Given the description of an element on the screen output the (x, y) to click on. 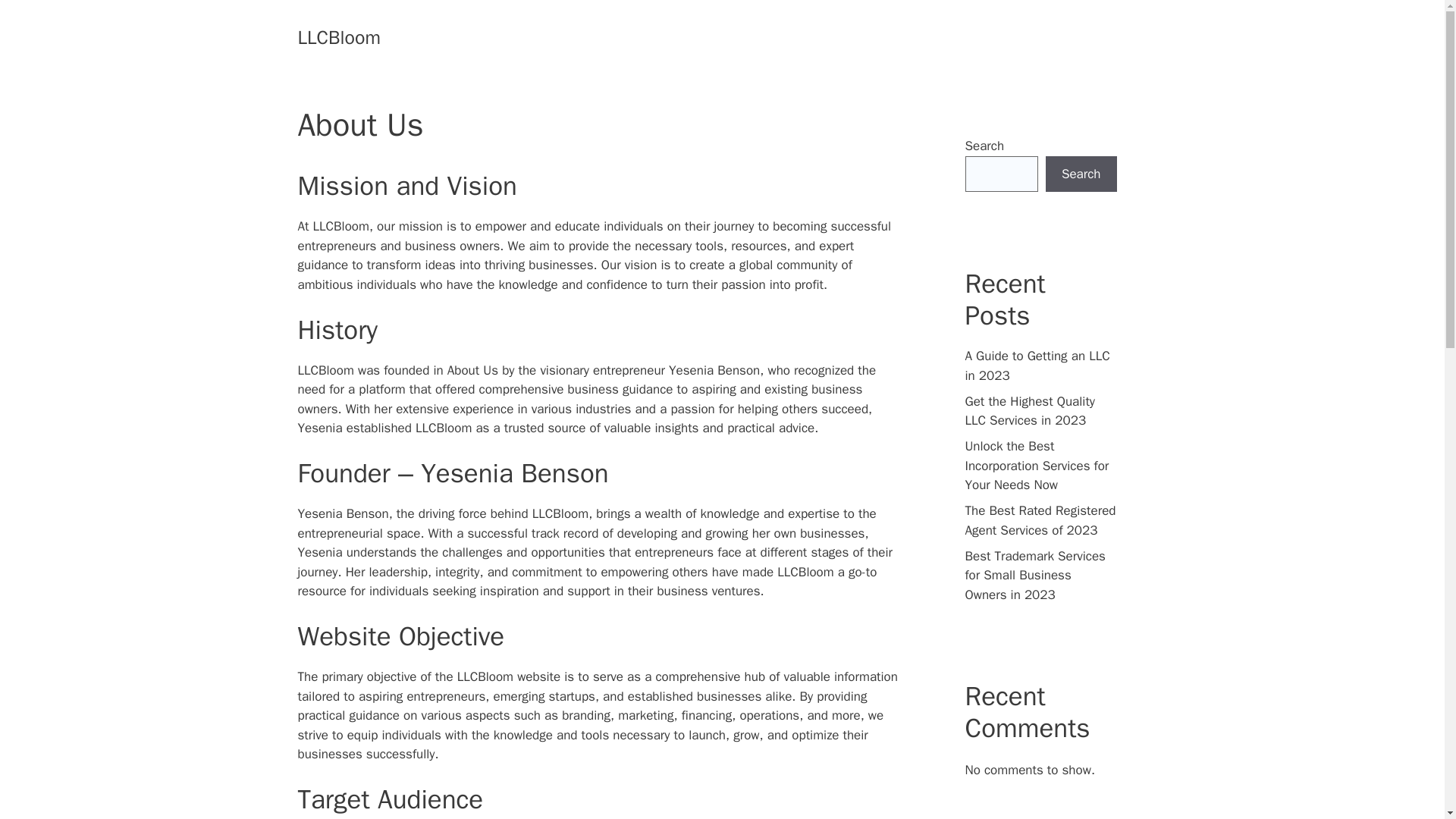
LLCBloom (341, 226)
LLCBloom (341, 226)
Unlock the Best Incorporation Services for Your Needs Now (1035, 465)
Best Trademark Services for Small Business Owners in 2023 (1034, 574)
LLCBloom (338, 37)
Get the Highest Quality LLC Services in 2023 (1028, 410)
Disclaimer (924, 37)
About Us (471, 370)
About Us (749, 37)
Privacy Policy (835, 37)
Search (1080, 174)
About Us (471, 370)
The Best Rated Registered Agent Services of 2023 (1039, 520)
A Guide to Getting an LLC in 2023 (1036, 366)
Terms and Conditions (1035, 37)
